Given the description of an element on the screen output the (x, y) to click on. 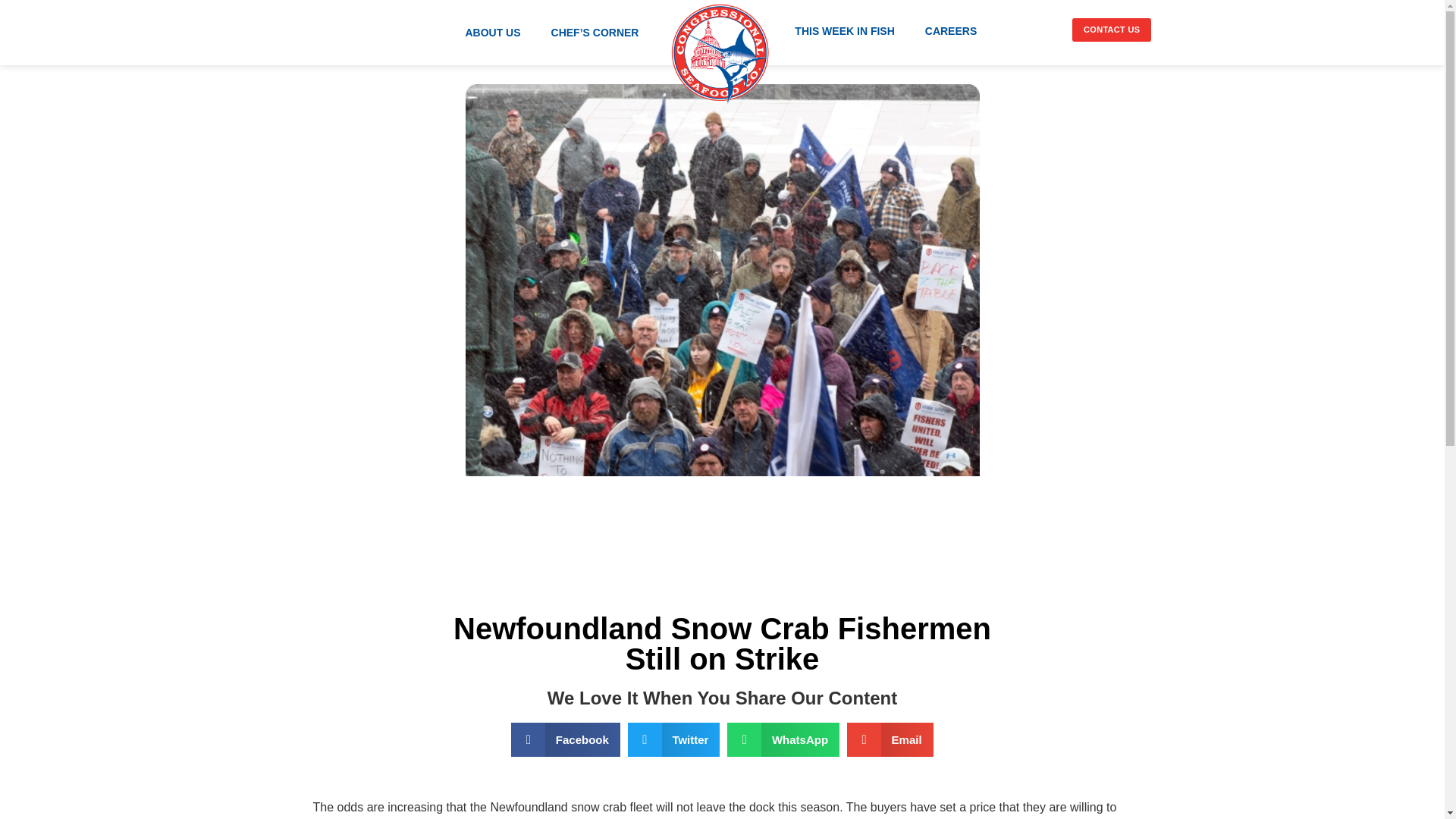
ABOUT US (492, 32)
THIS WEEK IN FISH (843, 30)
CAREERS (950, 30)
CONTACT US (1111, 29)
